Given the description of an element on the screen output the (x, y) to click on. 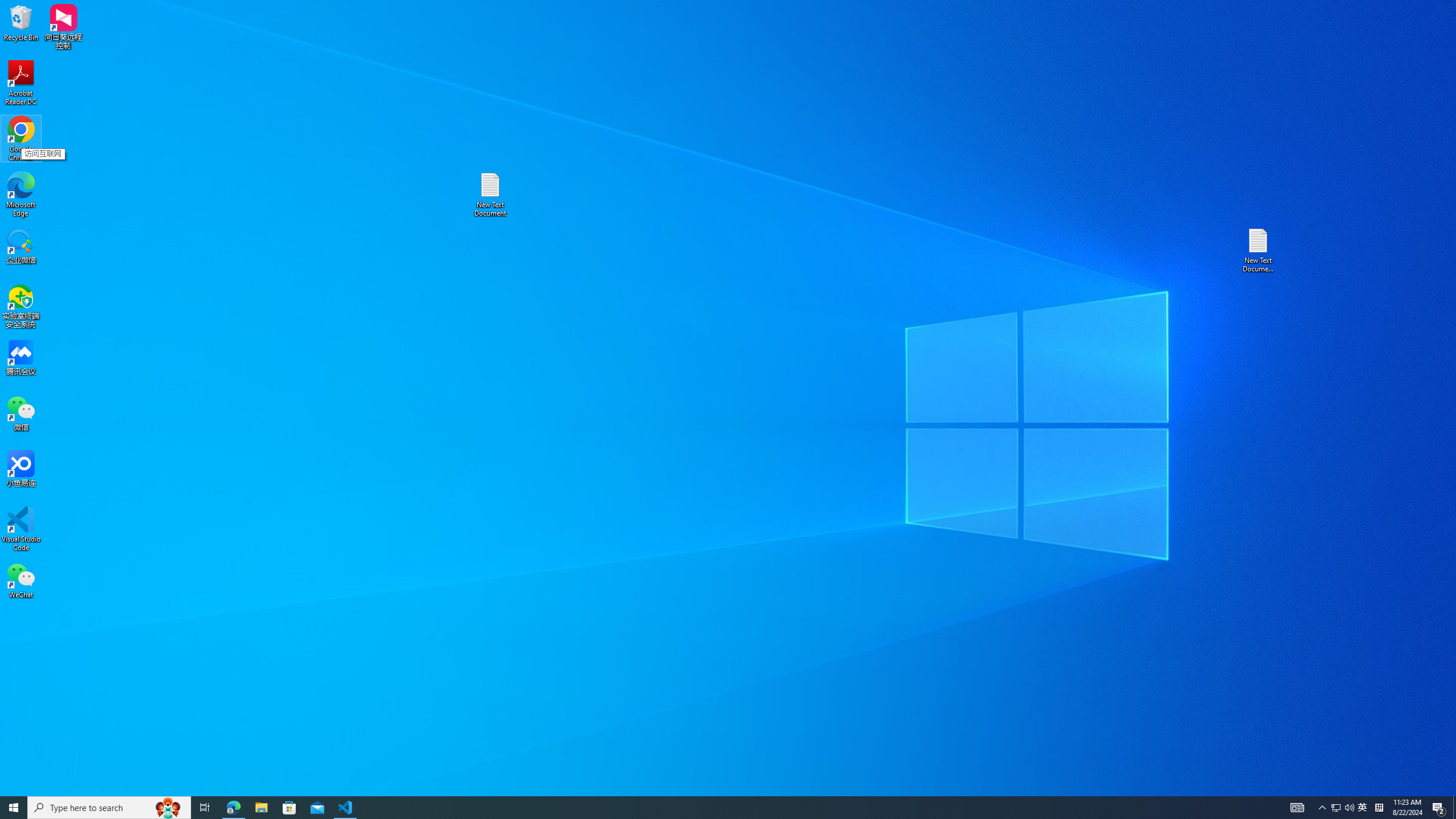
Show desktop (1454, 807)
Recycle Bin (21, 22)
